Given the description of an element on the screen output the (x, y) to click on. 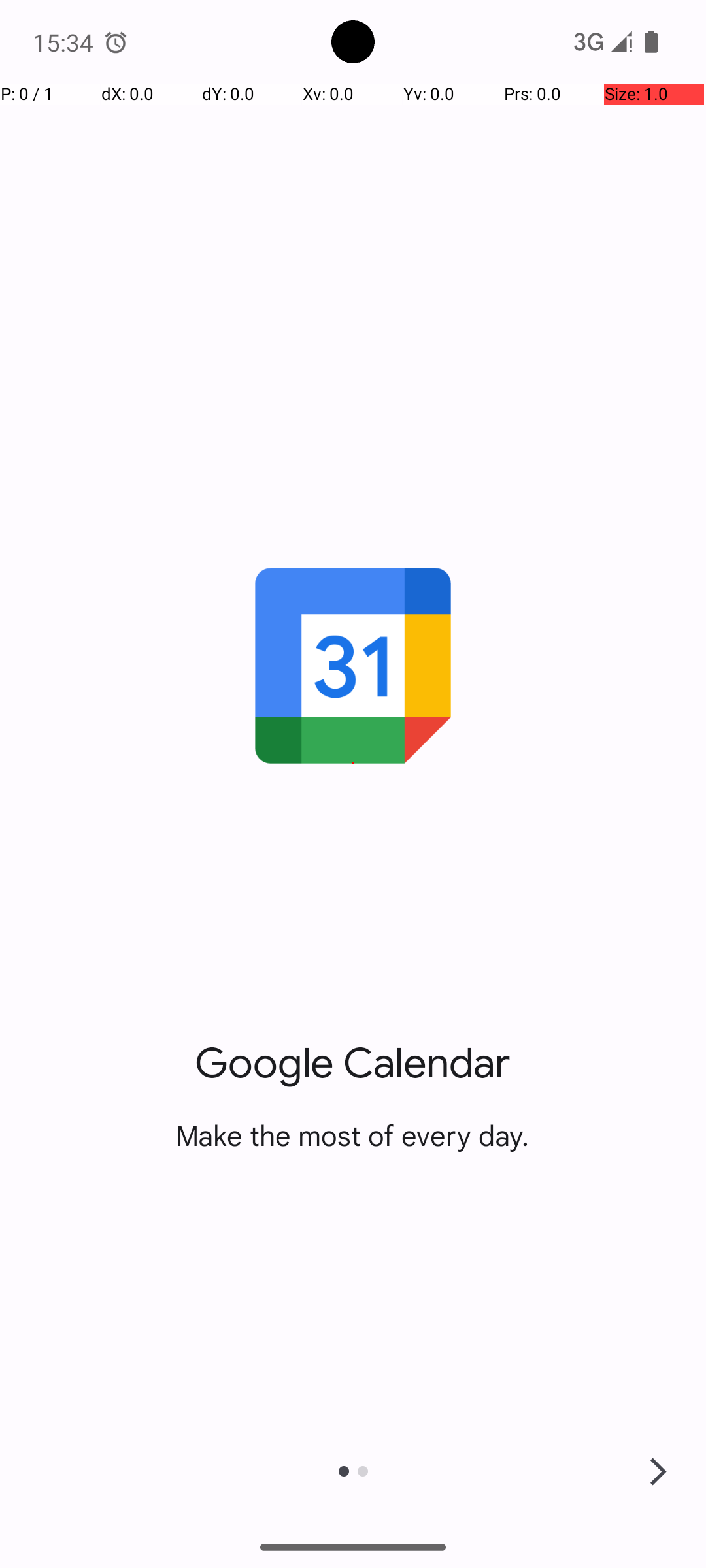
next page Element type: android.widget.ImageButton (657, 1471)
Google Calendar Element type: android.widget.TextView (352, 1063)
Make the most of every day. Element type: android.widget.TextView (352, 1134)
